Given the description of an element on the screen output the (x, y) to click on. 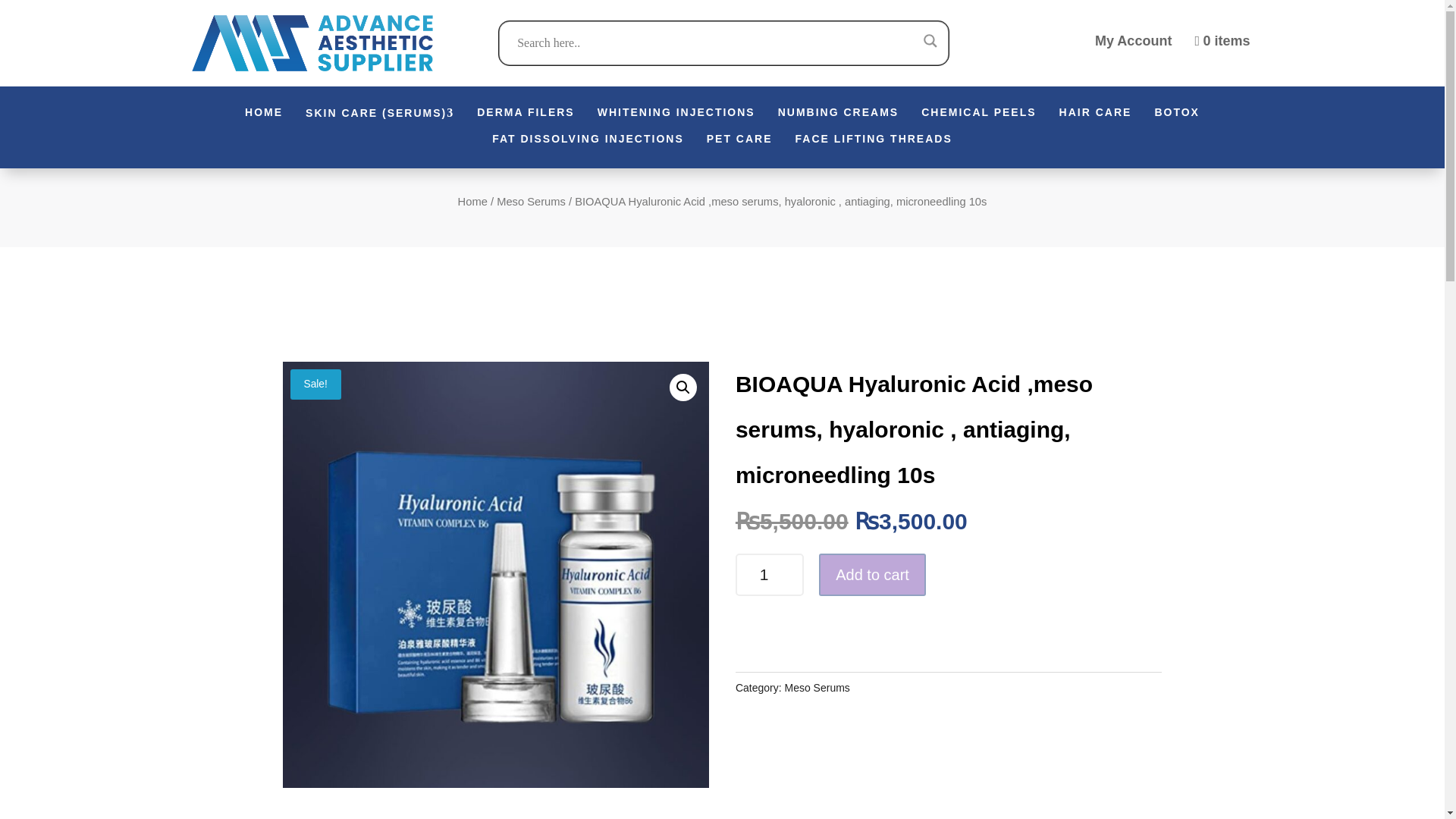
CHEMICAL PEELS (978, 114)
NUMBING CREAMS (837, 114)
logo-1 (311, 43)
WHITENING INJECTIONS (675, 114)
BOTOX (1176, 114)
Start shopping (1221, 42)
DERMA FILERS (525, 114)
FACE LIFTING THREADS (873, 140)
1 (769, 574)
PET CARE (739, 140)
